Given the description of an element on the screen output the (x, y) to click on. 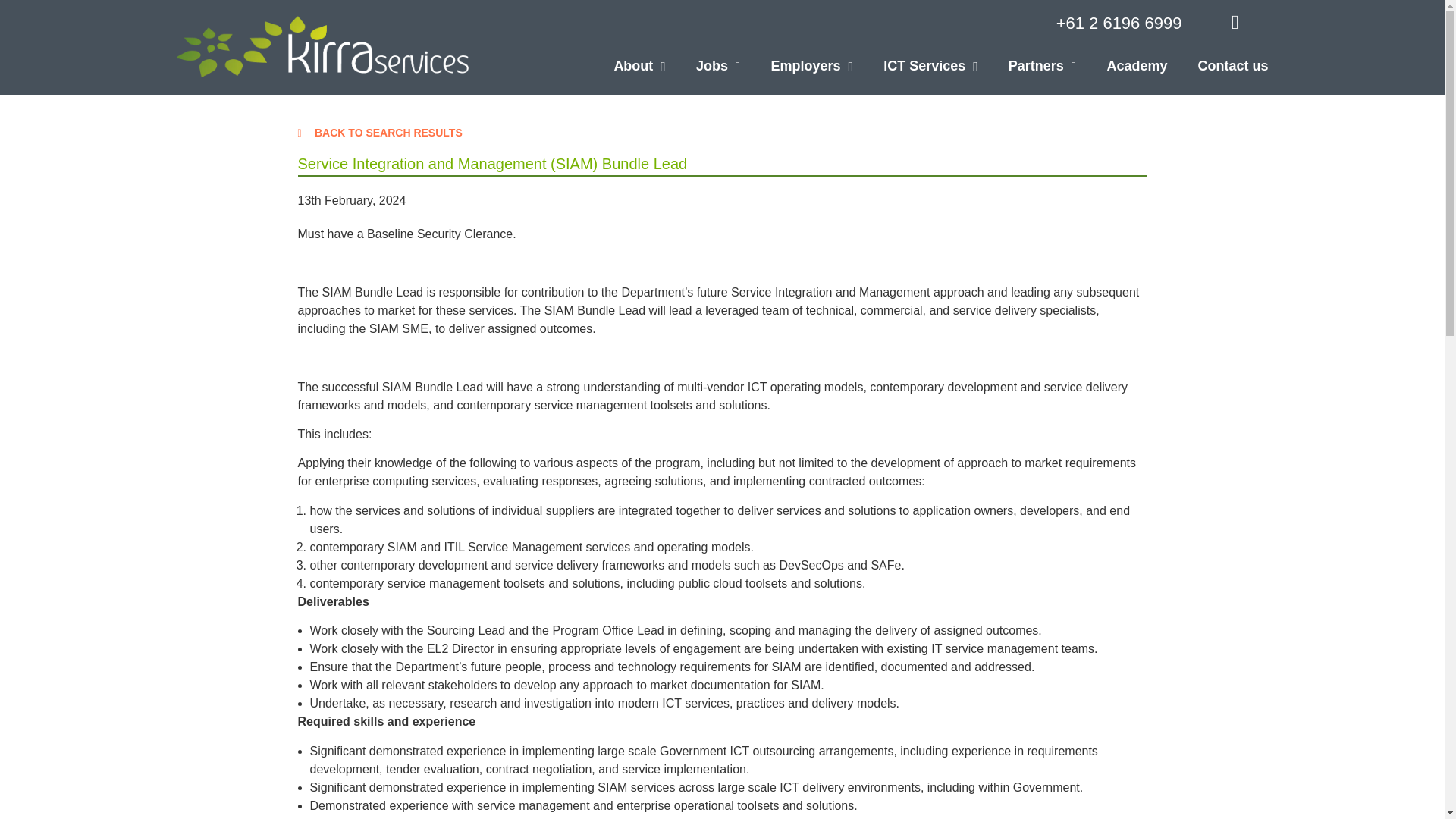
Jobs (703, 73)
About (624, 73)
Employers (797, 73)
